Given the description of an element on the screen output the (x, y) to click on. 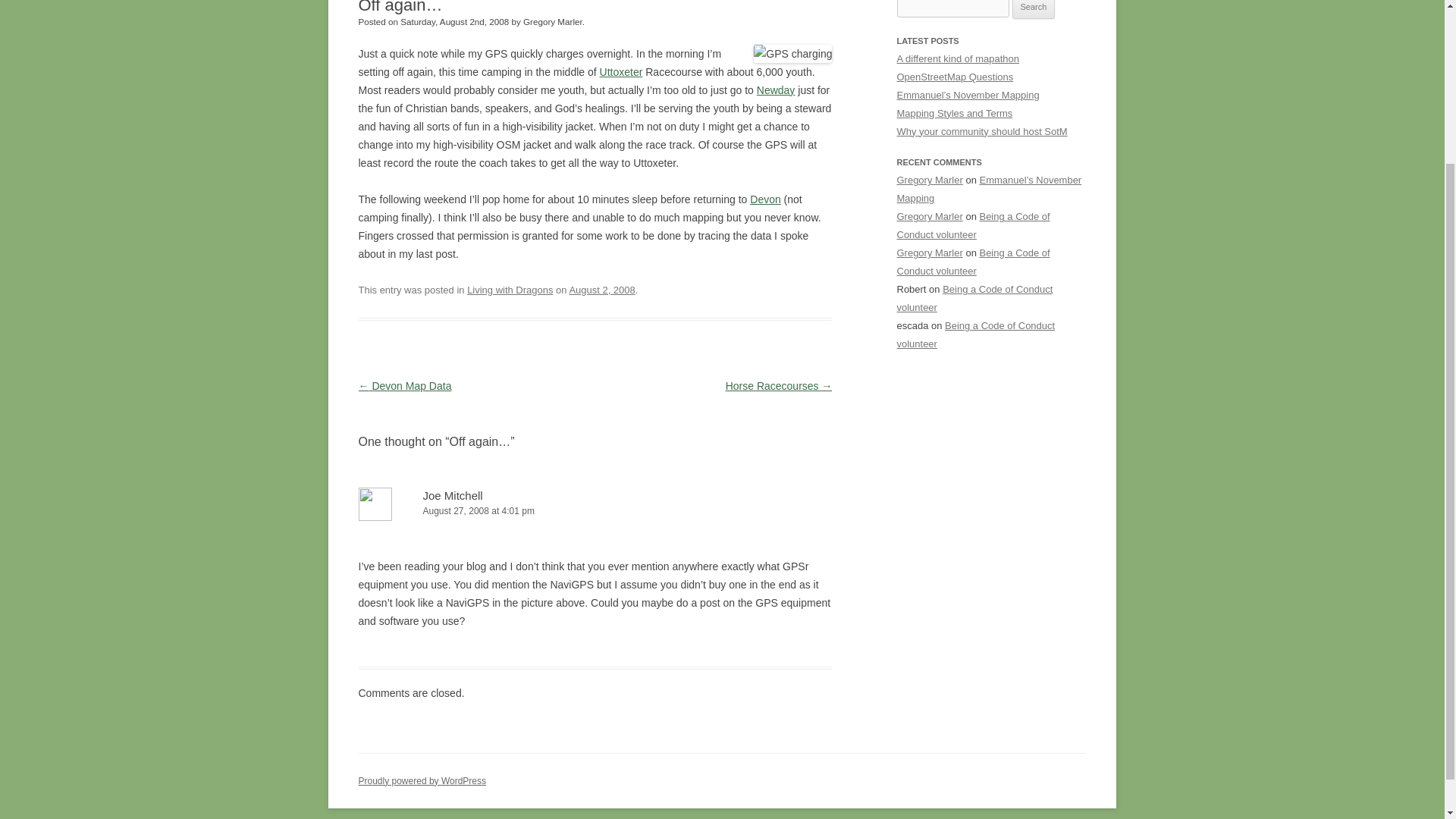
Living with Dragons (510, 289)
Search (1033, 9)
Being a Code of Conduct volunteer (974, 297)
Search (1033, 9)
A different kind of mapathon (956, 58)
Gregory Marler (929, 179)
Mapping Styles and Terms (953, 112)
Proudly powered by WordPress (422, 780)
Why your community should host SotM (981, 131)
Newday (775, 90)
Devon (764, 199)
Semantic Personal Publishing Platform (422, 780)
Gregory Marler (929, 215)
August 27, 2008 at 4:01 pm (594, 511)
OpenStreetMap Questions (954, 76)
